Given the description of an element on the screen output the (x, y) to click on. 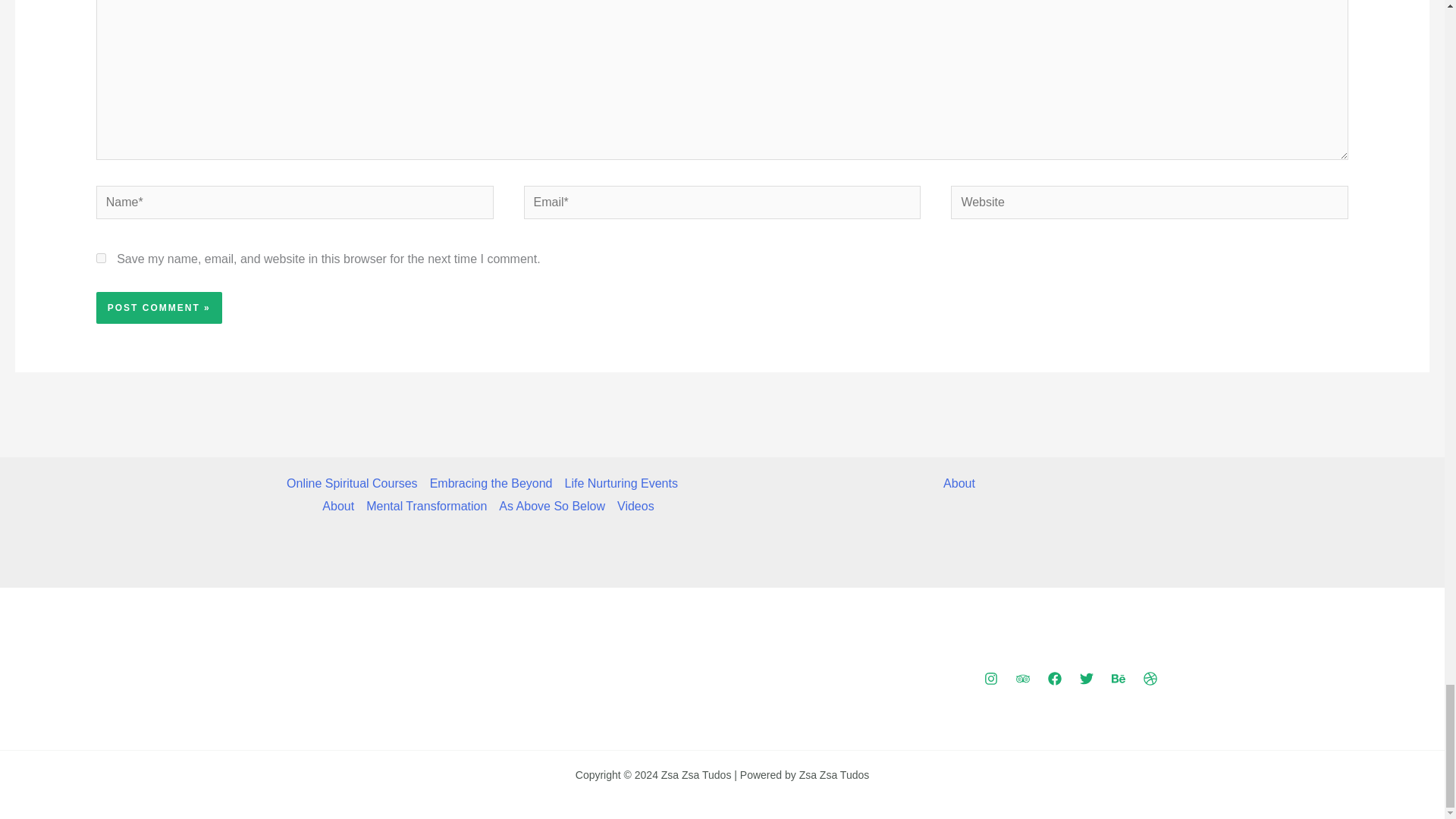
Life Nurturing Events (619, 483)
About (337, 506)
Videos (632, 506)
Mental Transformation (426, 506)
Online Spiritual Courses (354, 483)
Embracing the Beyond (491, 483)
yes (101, 257)
As Above So Below (552, 506)
